Given the description of an element on the screen output the (x, y) to click on. 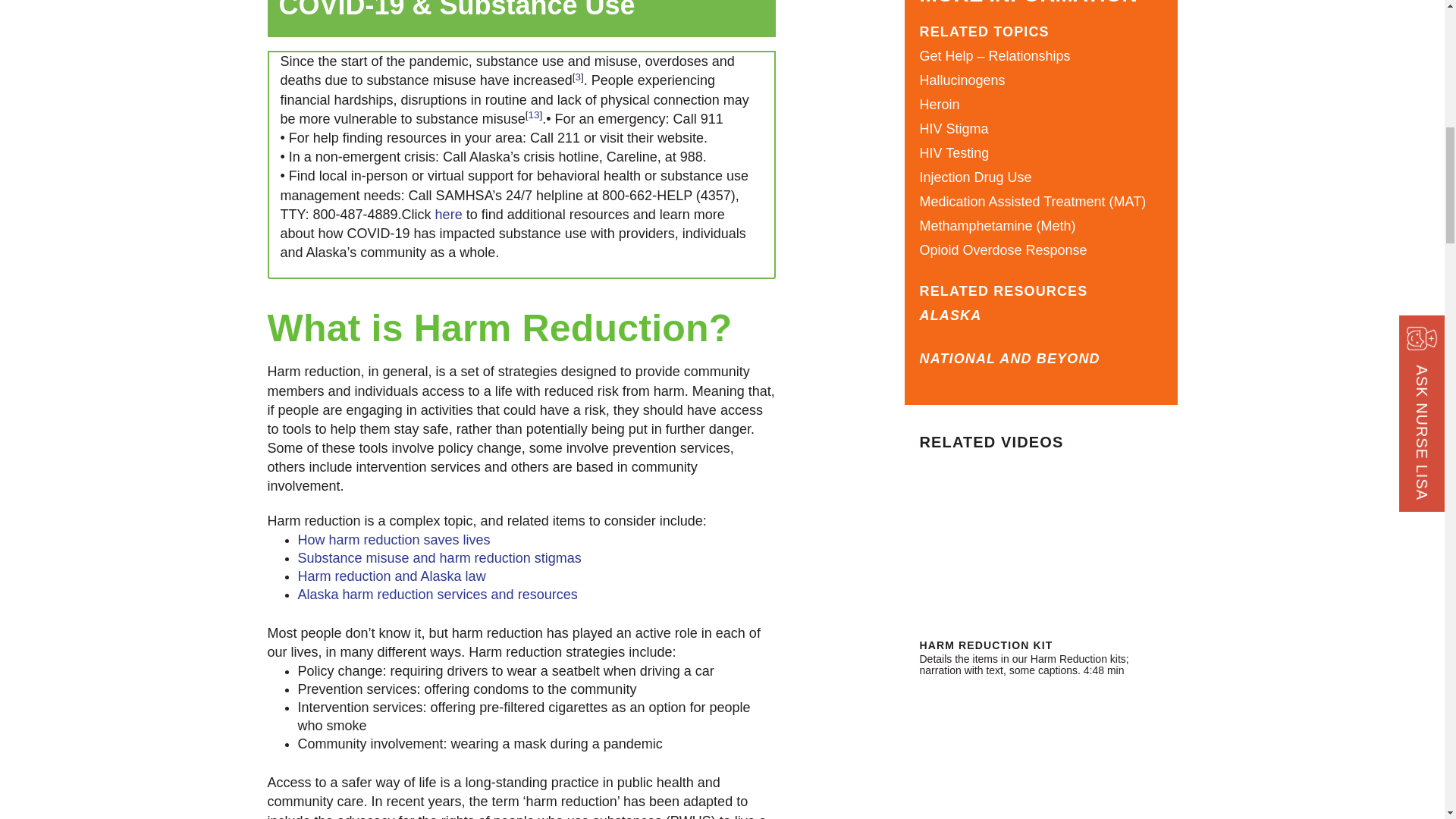
shawna - A teens message about STDs (1039, 749)
13 (532, 114)
here (449, 214)
Harm Reduction Kit (1039, 549)
How harm reduction saves lives (393, 539)
